Given the description of an element on the screen output the (x, y) to click on. 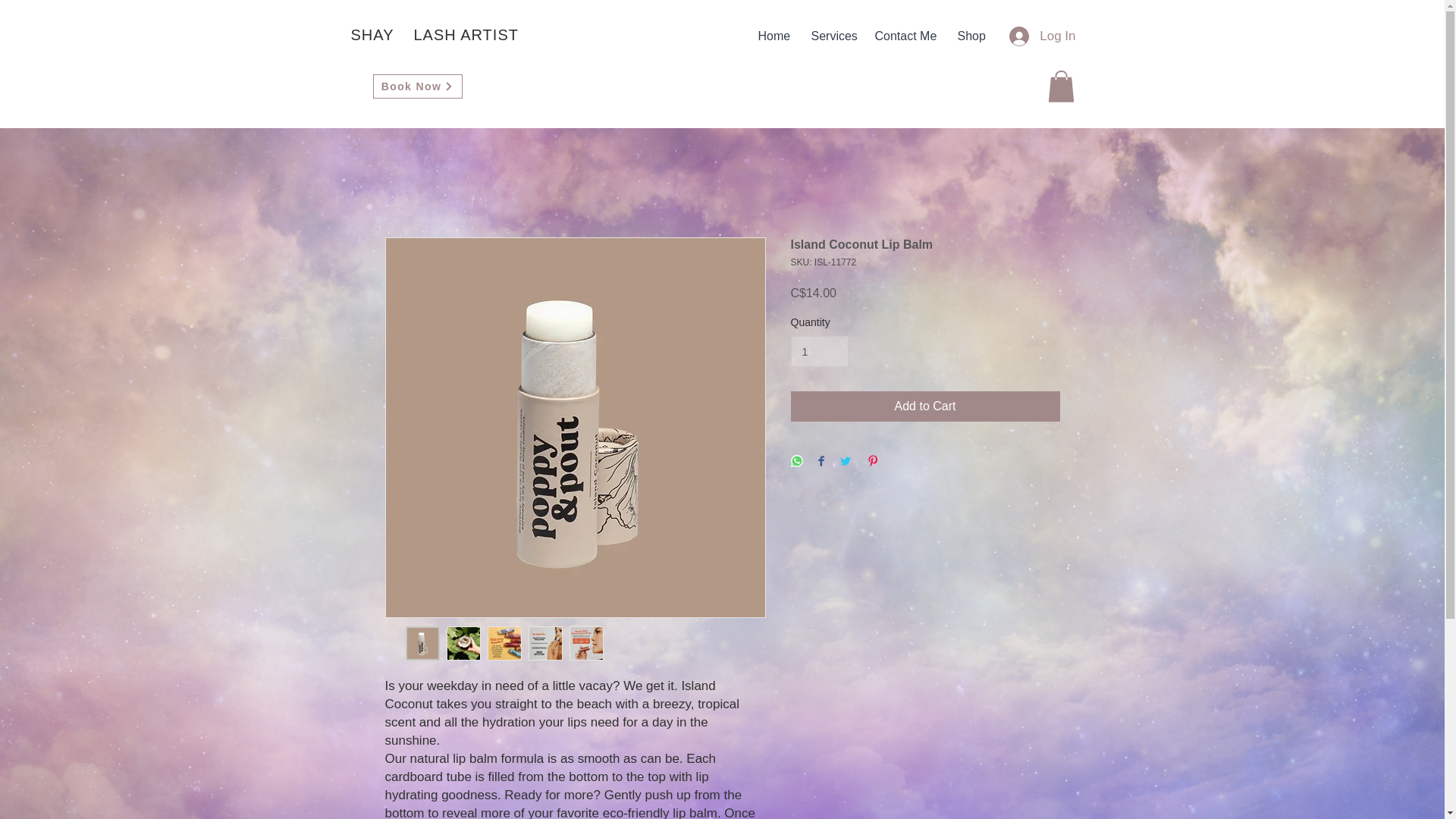
Add to Cart (924, 406)
Contact Me (903, 36)
Services (831, 36)
1 (818, 350)
Home (772, 36)
Book Now (417, 86)
Log In (1042, 36)
LASH ARTIST (465, 34)
Shop (970, 36)
SHAY (371, 34)
